Given the description of an element on the screen output the (x, y) to click on. 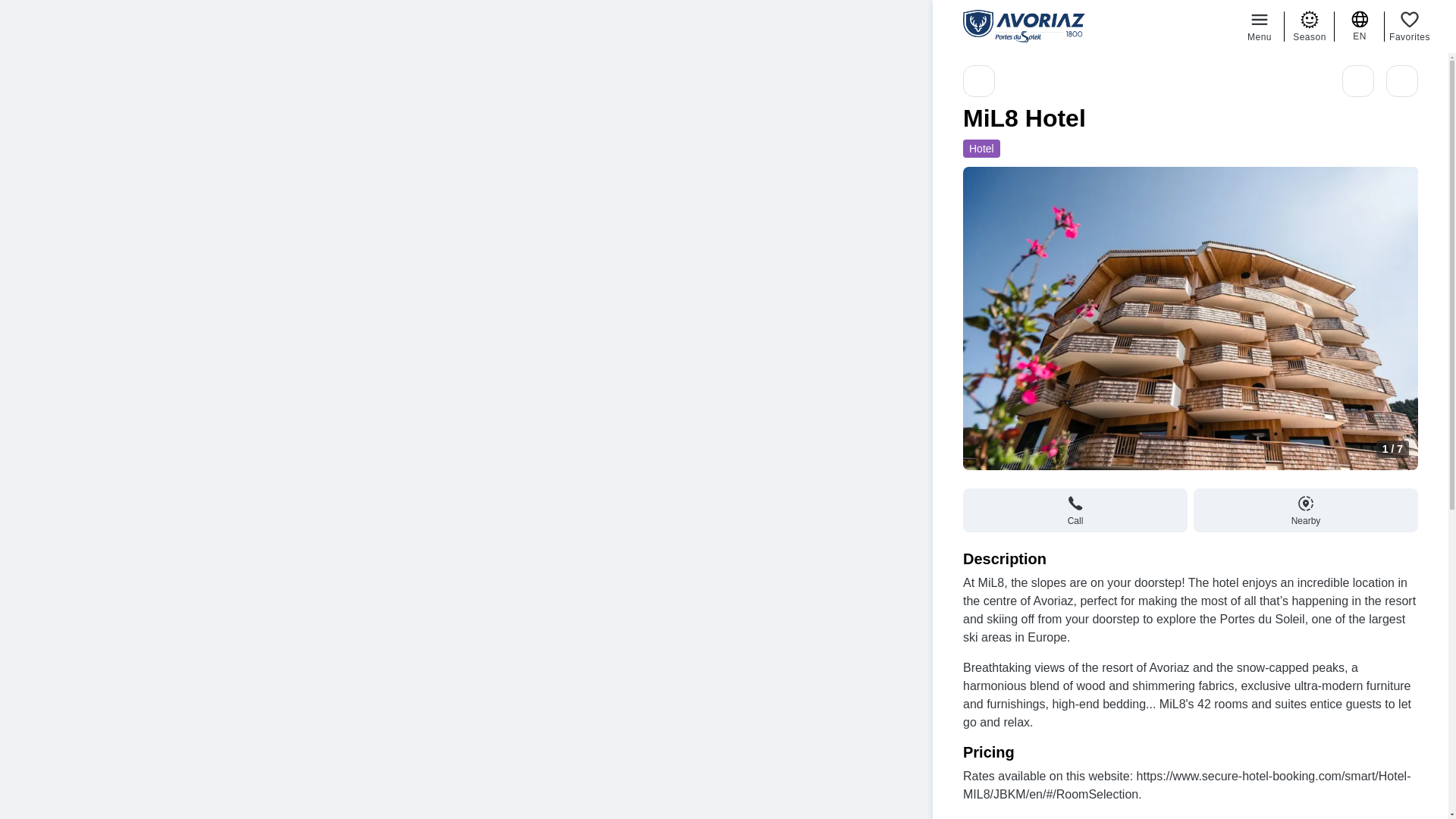
Season (1309, 26)
Hotel (981, 148)
Favorites (1409, 26)
Call (1075, 510)
Menu (1259, 26)
EN (1359, 26)
Nearby (1305, 510)
